Given the description of an element on the screen output the (x, y) to click on. 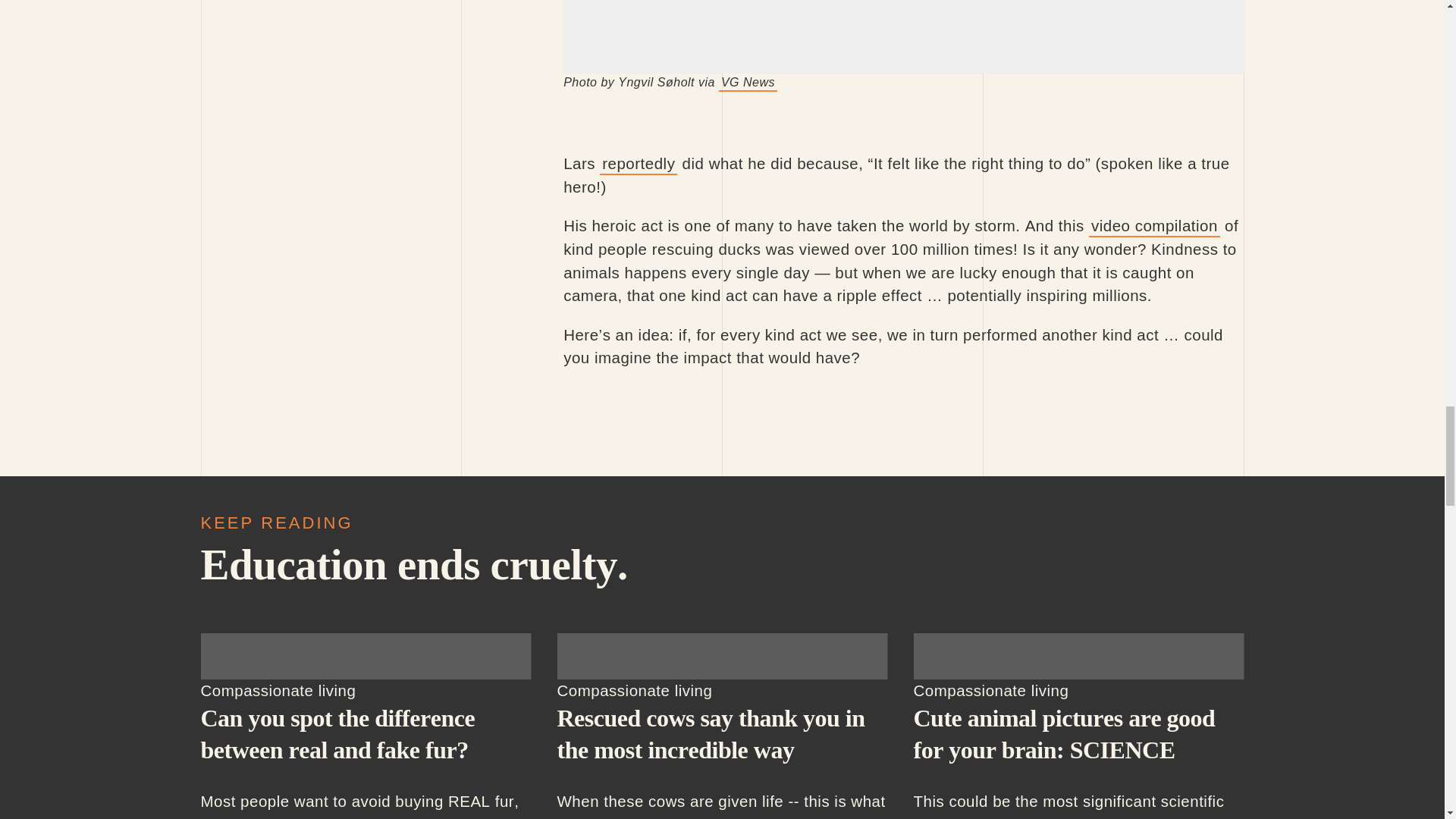
reportedly (638, 164)
VG News (748, 82)
Compassionate living (277, 690)
Rescued cows say thank you in the most incredible way (721, 656)
Can you spot the difference between real and fake fur? (365, 656)
Rescued cows say thank you in the most incredible way (710, 733)
video compilation (1154, 226)
Compassionate living (633, 690)
Cute animal pictures are good for your brain: SCIENCE (1077, 656)
Can you spot the difference between real and fake fur? (337, 733)
